Given the description of an element on the screen output the (x, y) to click on. 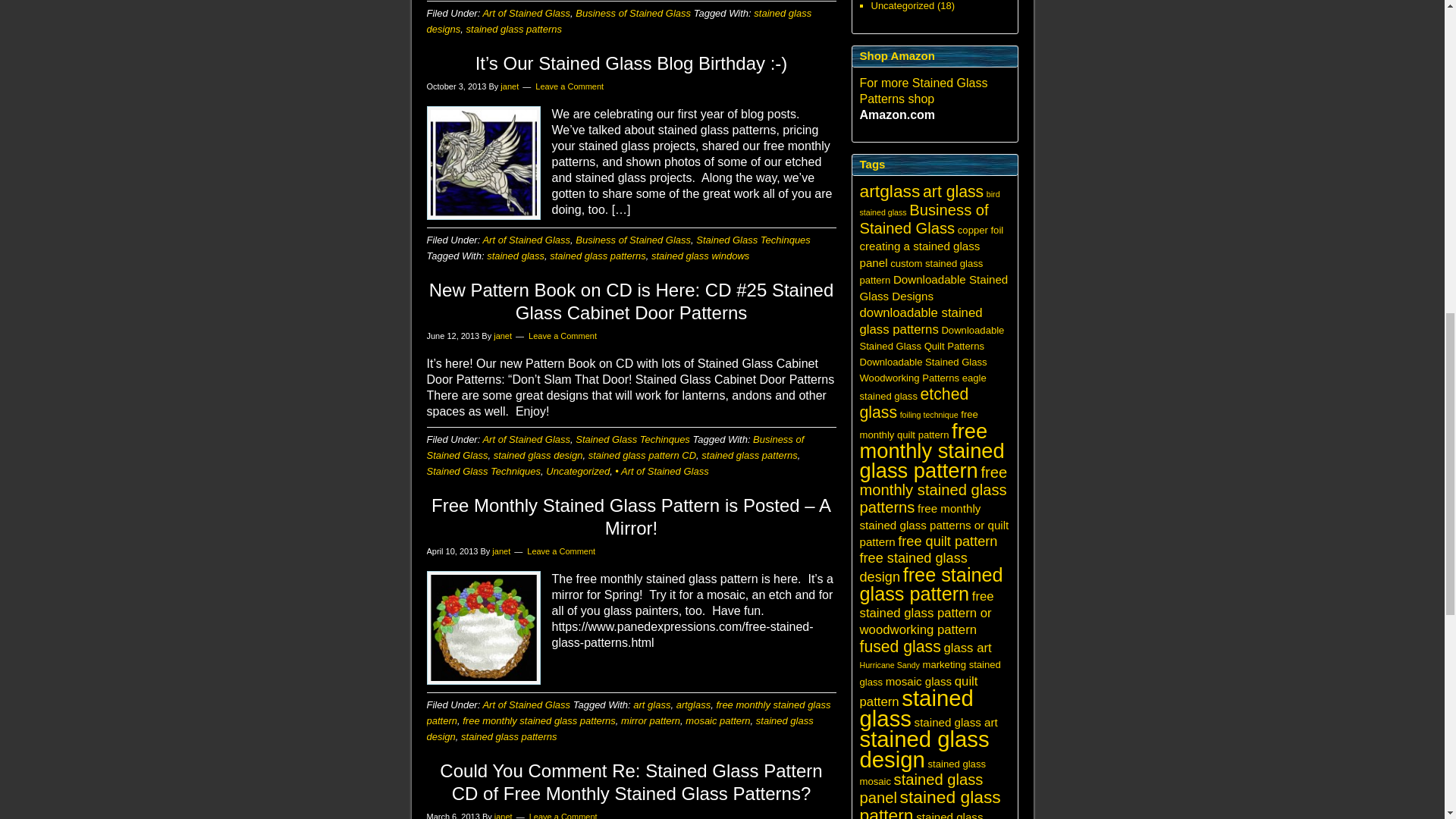
Leave a Comment (569, 85)
Art of Stained Glass (525, 239)
Art of Stained Glass (525, 12)
janet (509, 85)
Business of Stained Glass (632, 239)
stained glass designs (618, 21)
Business of Stained Glass (632, 12)
stained glass patterns (513, 29)
